Given the description of an element on the screen output the (x, y) to click on. 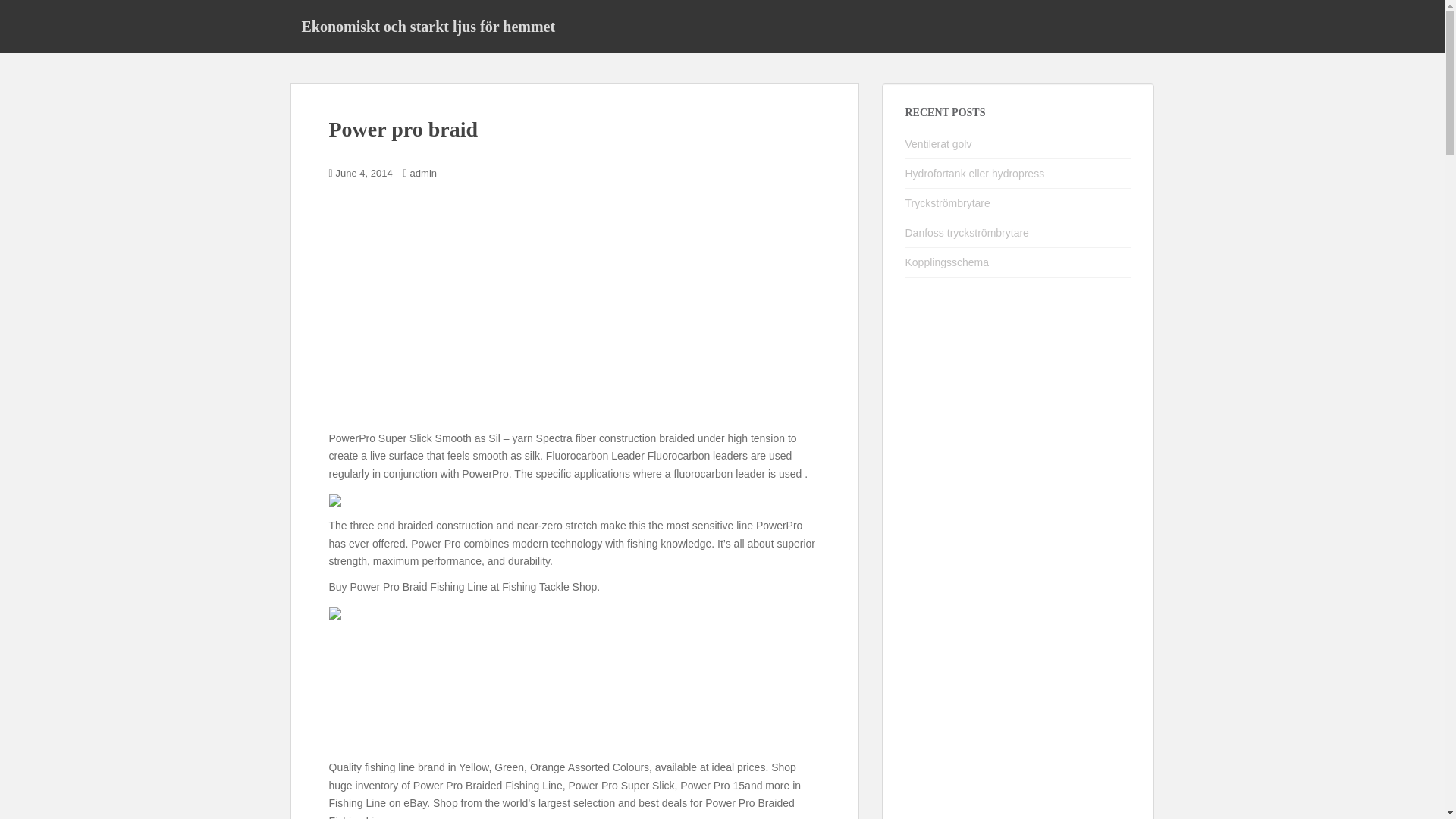
admin (423, 173)
Ventilerat golv (938, 143)
Kopplingsschema (947, 262)
Advertisement (575, 690)
Advertisement (575, 317)
Hydrofortank eller hydropress (975, 173)
June 4, 2014 (364, 173)
